Given the description of an element on the screen output the (x, y) to click on. 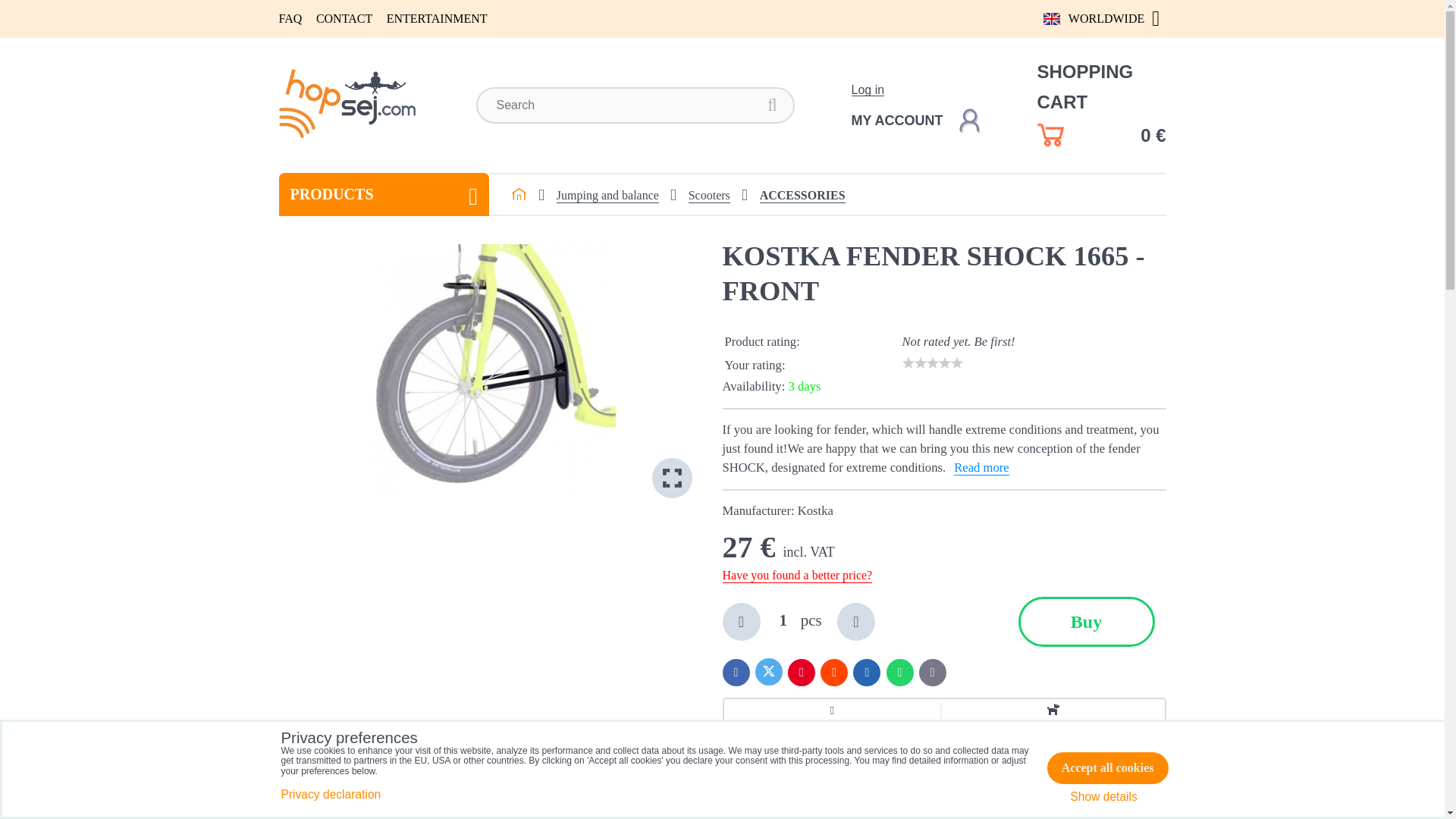
ENTERTAINMENT (437, 18)
MY ACCOUNT (914, 120)
KOSTKA Fender Shock 1665 - Front (486, 370)
1 (782, 619)
PRODUCTS (384, 194)
FAQ (290, 18)
Log in (866, 89)
My account (914, 120)
CONTACT (343, 18)
